Given the description of an element on the screen output the (x, y) to click on. 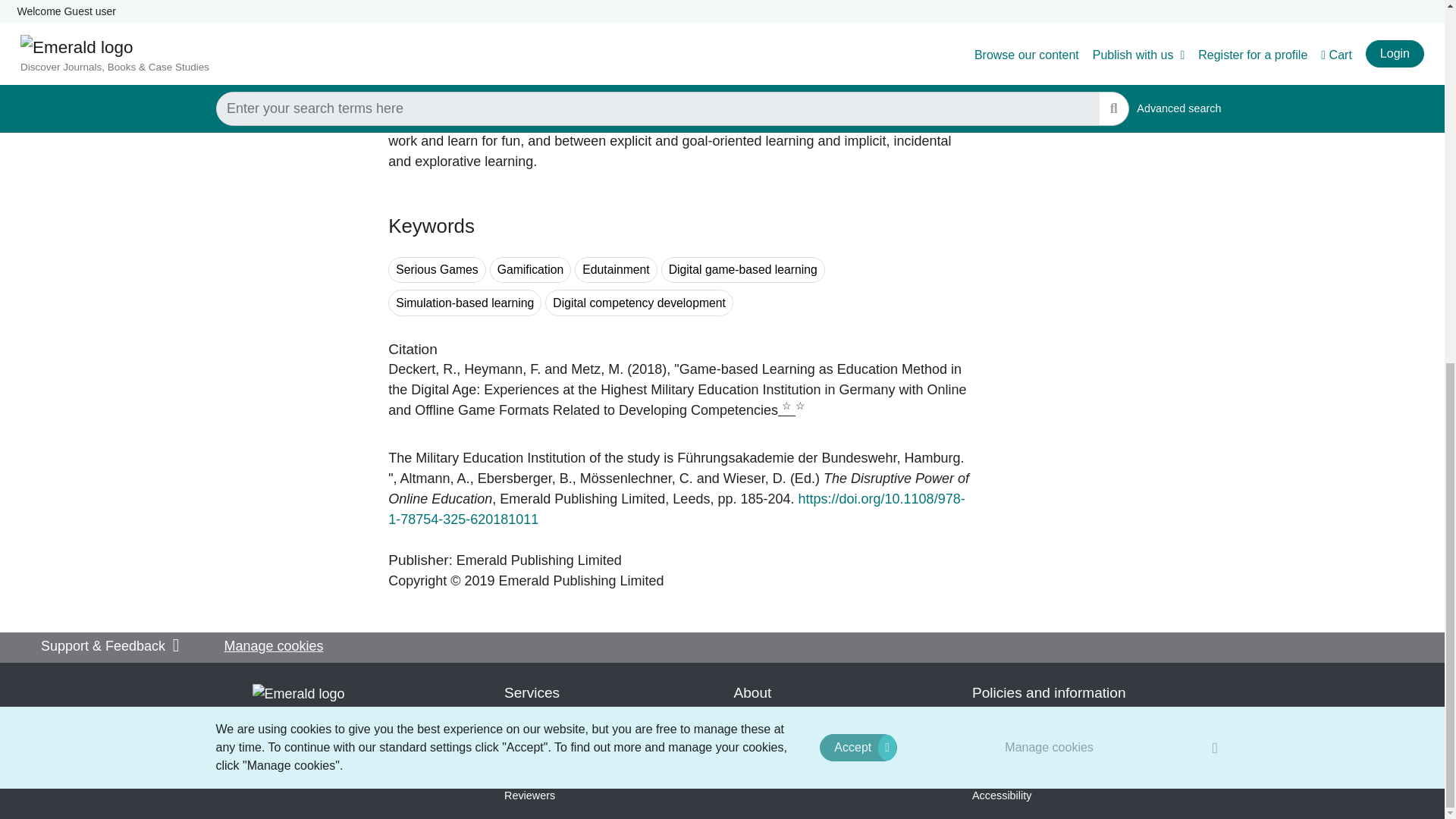
Felix Heymann (502, 368)
Maren Metz (596, 368)
Ronald Deckert (422, 368)
Andreas Altmann (435, 478)
Accept (857, 98)
Bernd Ebersberger (524, 478)
Search for keyword Digital competency development (638, 302)
Search for keyword Simulation-based learning (464, 302)
Search for keyword Gamification (530, 270)
Manage cookies (1049, 98)
